Given the description of an element on the screen output the (x, y) to click on. 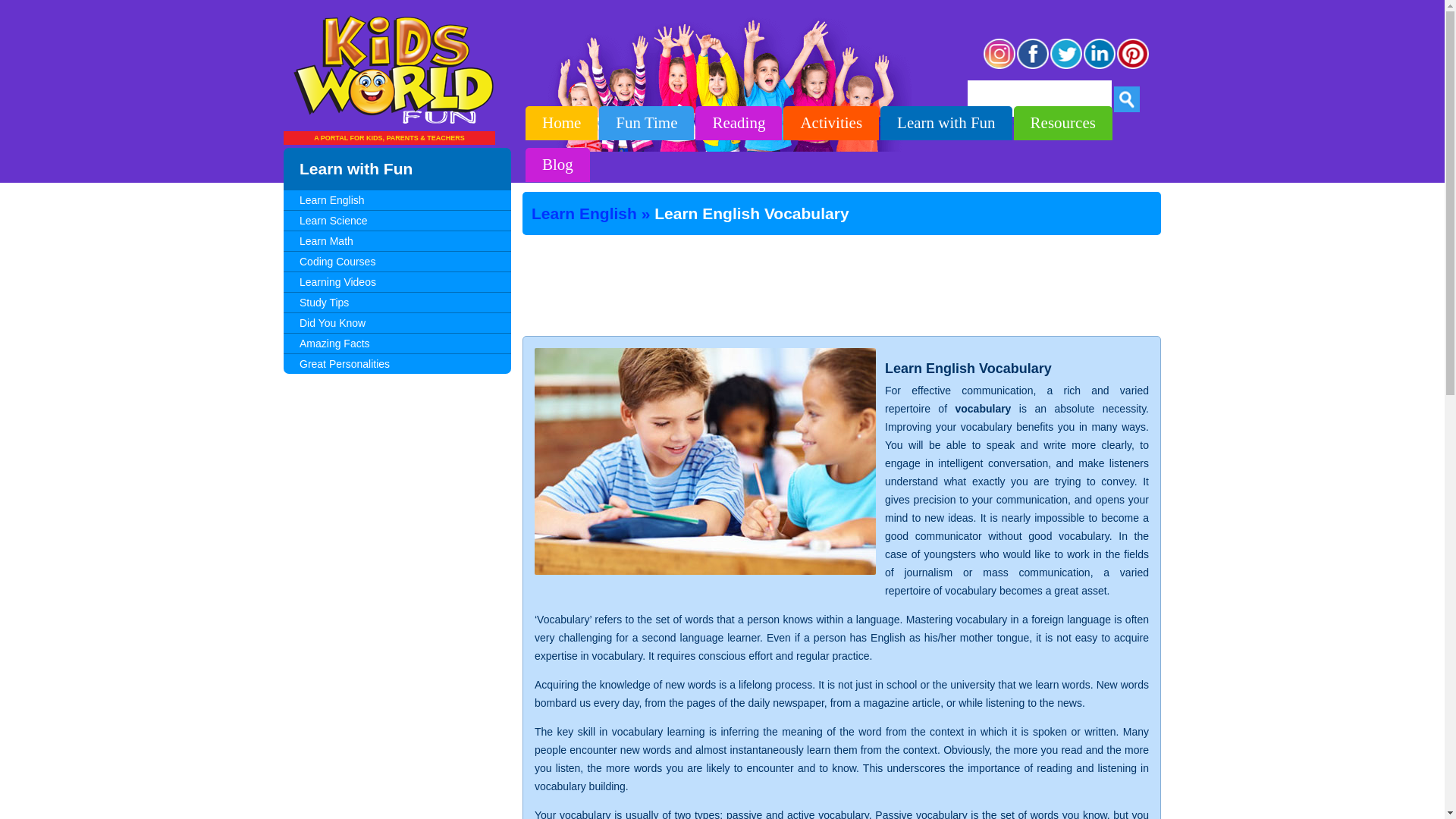
Follow Us On Instagram (999, 66)
Home (560, 123)
Fun Time (646, 123)
Follow Us On Pinterest (1133, 66)
Follow Us On Twitter (1066, 66)
Reading (738, 123)
Follow Us On LinkedIn (1099, 66)
Home (560, 123)
Search (1126, 99)
Learn with Fun (945, 123)
Activities (831, 123)
Search (1126, 99)
Fun Time (646, 123)
Follow Us On Facebook (1032, 66)
